Given the description of an element on the screen output the (x, y) to click on. 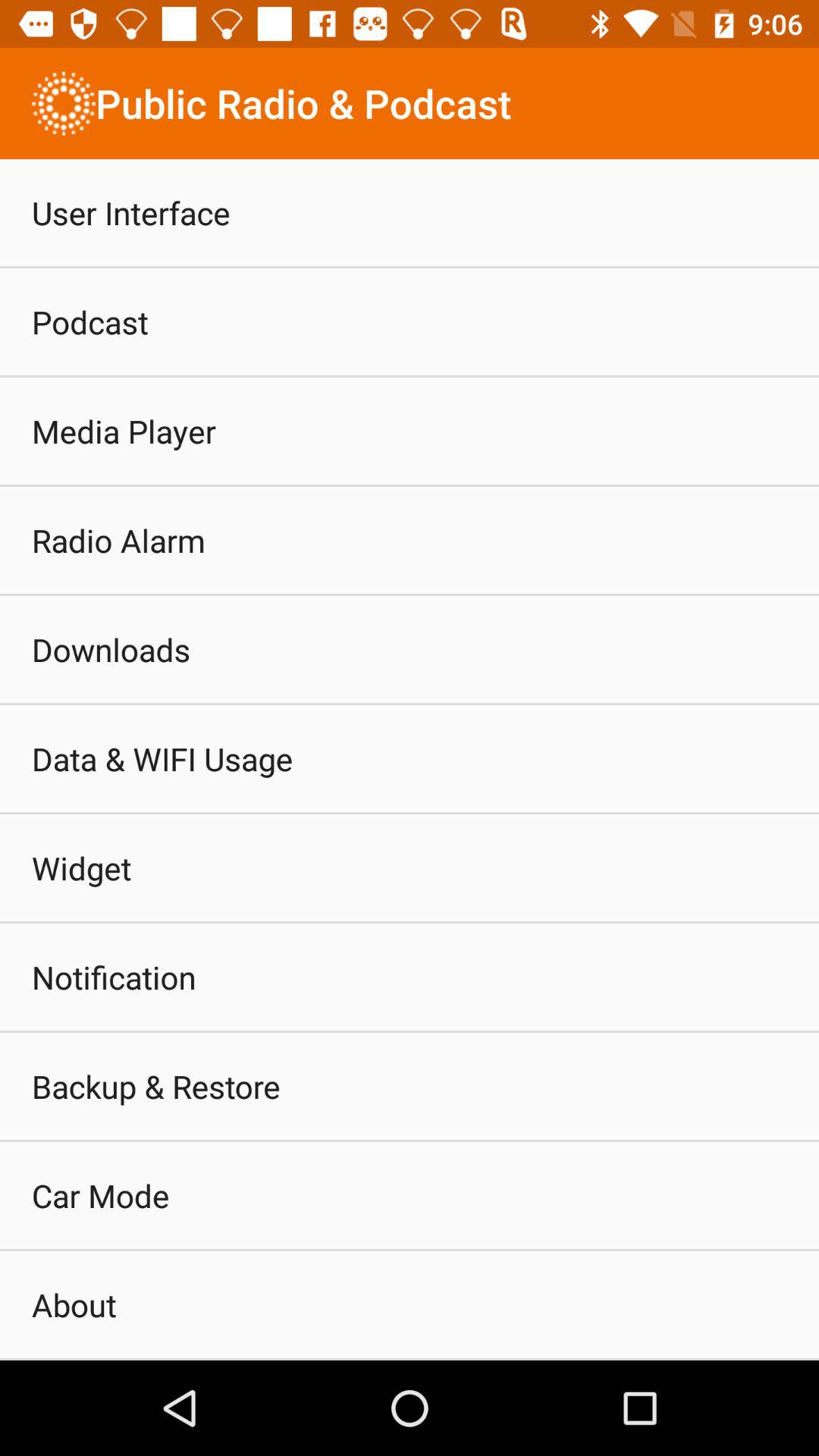
press the icon above notification icon (81, 867)
